Given the description of an element on the screen output the (x, y) to click on. 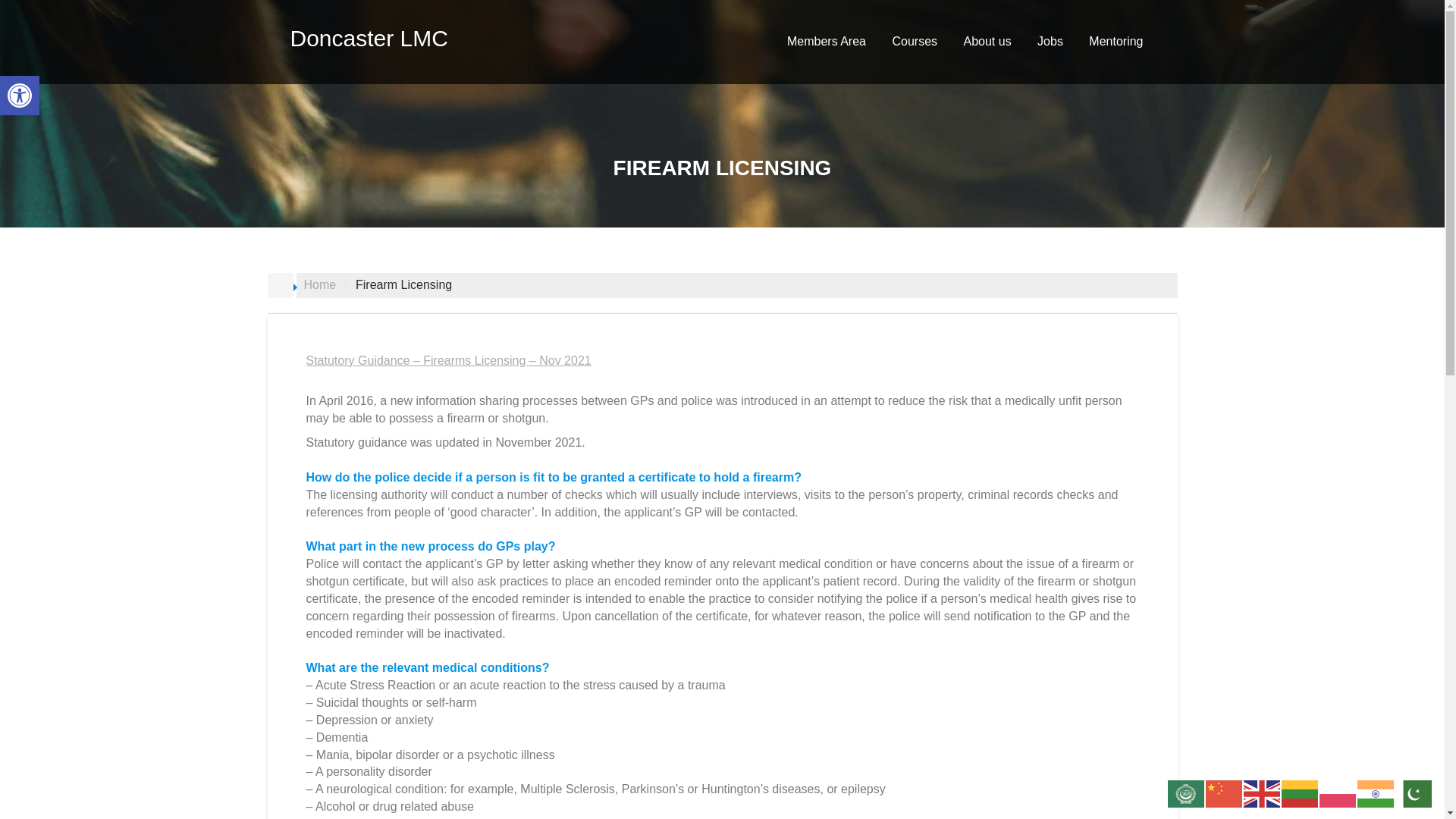
Accessibility Tools (19, 95)
Lithuanian (1300, 792)
Accessibility Tools (19, 95)
English (1262, 792)
Punjabi (1375, 792)
Jobs (1050, 41)
Doncaster LMC (367, 37)
Members Area (826, 41)
About us (987, 41)
Doncaster LMC (367, 37)
Polish (1337, 792)
Arabic (1186, 792)
Courses (19, 95)
Urdu (914, 41)
